Given the description of an element on the screen output the (x, y) to click on. 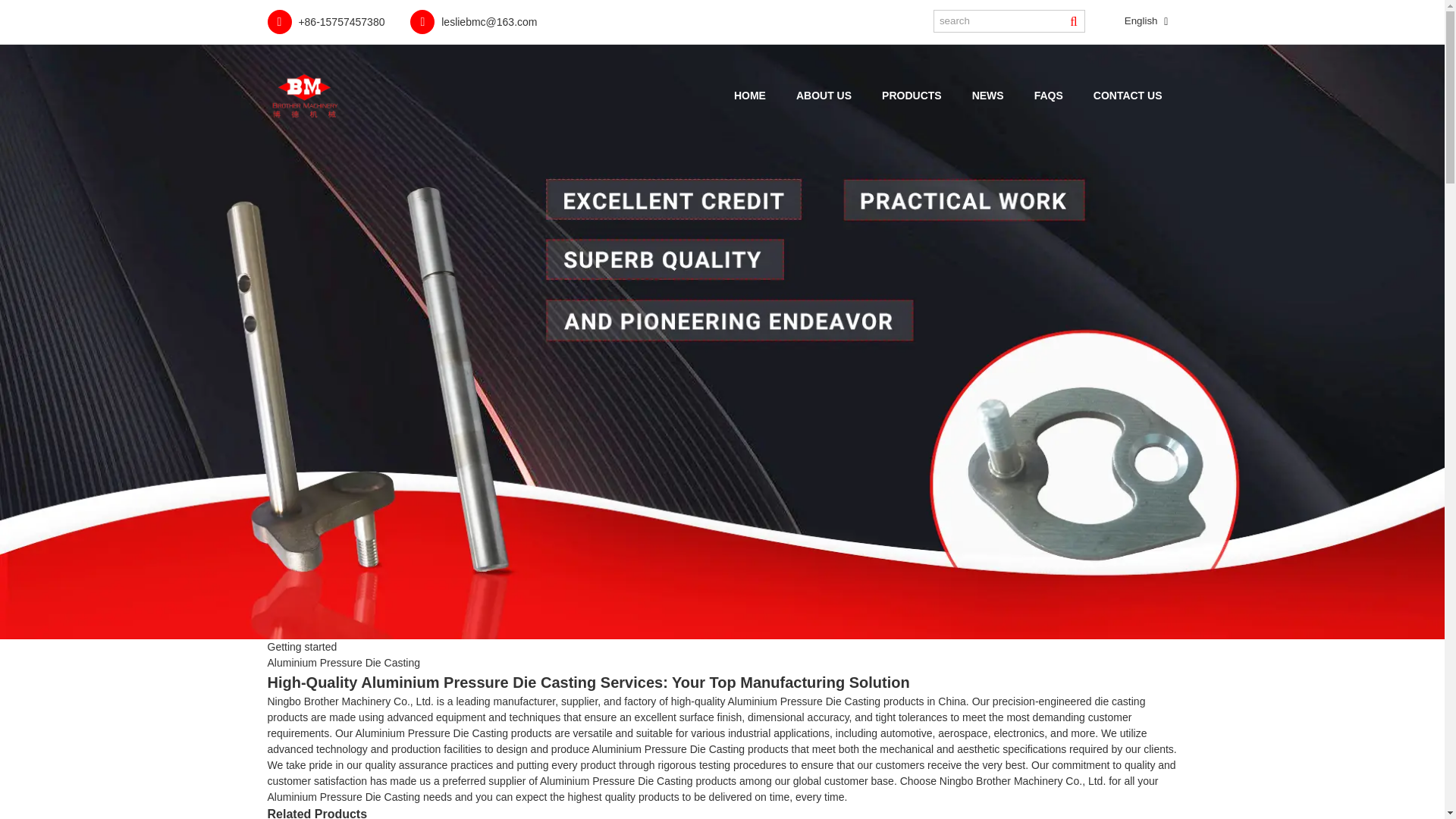
NEWS (987, 95)
English (1128, 21)
Aluminium Pressure Die Casting (343, 662)
CONTACT US (1127, 95)
PRODUCTS (911, 95)
ABOUT US (823, 95)
FAQS (1048, 95)
Getting started (301, 646)
HOME (749, 95)
